Given the description of an element on the screen output the (x, y) to click on. 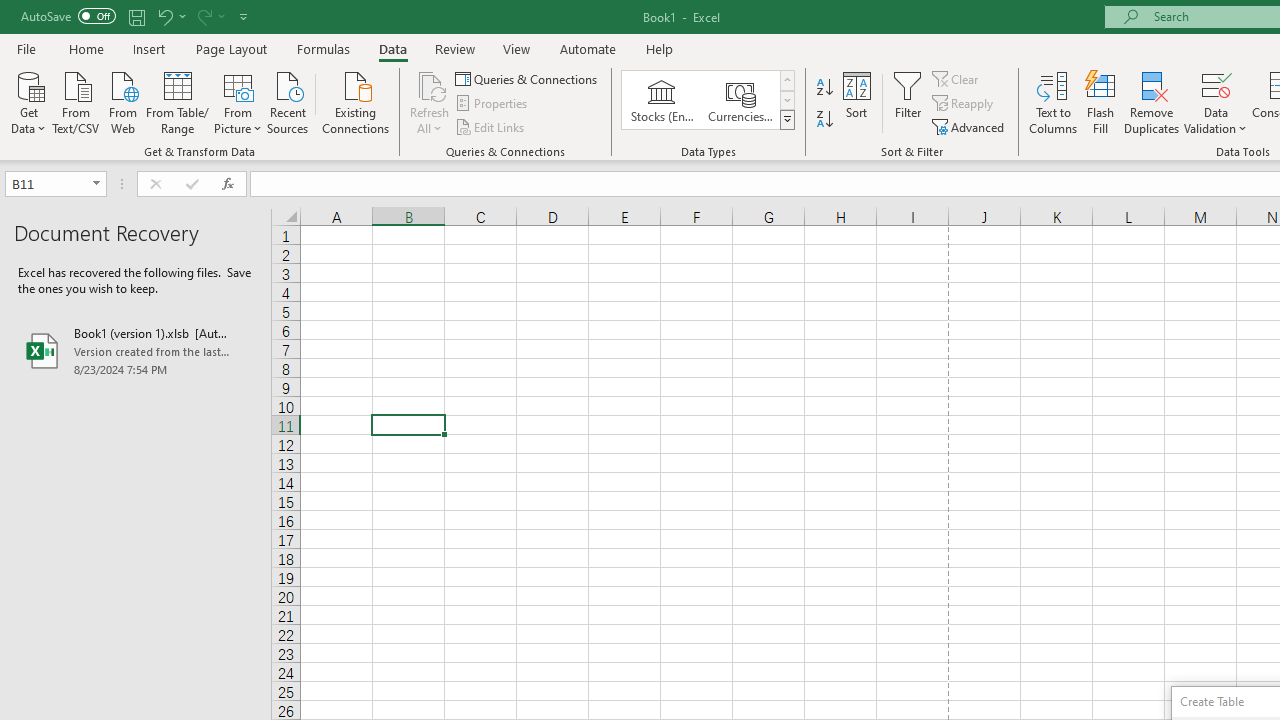
Flash Fill (1101, 102)
Automate (588, 48)
Row Down (786, 100)
Data Types (786, 120)
From Table/Range (177, 101)
Row up (786, 79)
More Options (1215, 121)
AutoSave (68, 16)
Edit Links (491, 126)
Sort A to Z (824, 87)
Review (454, 48)
Formulas (323, 48)
